Given the description of an element on the screen output the (x, y) to click on. 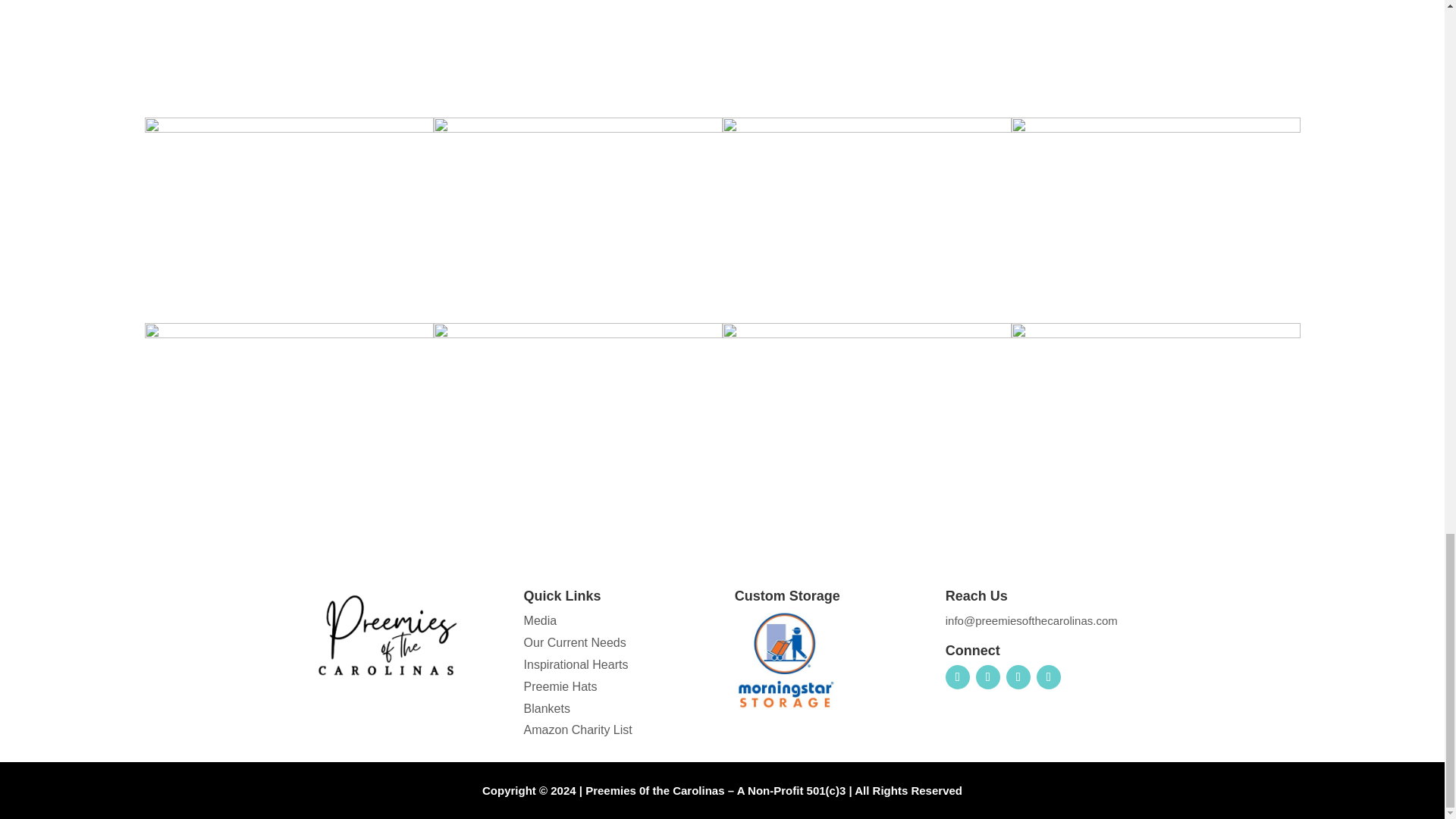
heart-Mintz (288, 128)
heart-Mintz-2 (577, 128)
heart-Mintz-1 (866, 128)
